Given the description of an element on the screen output the (x, y) to click on. 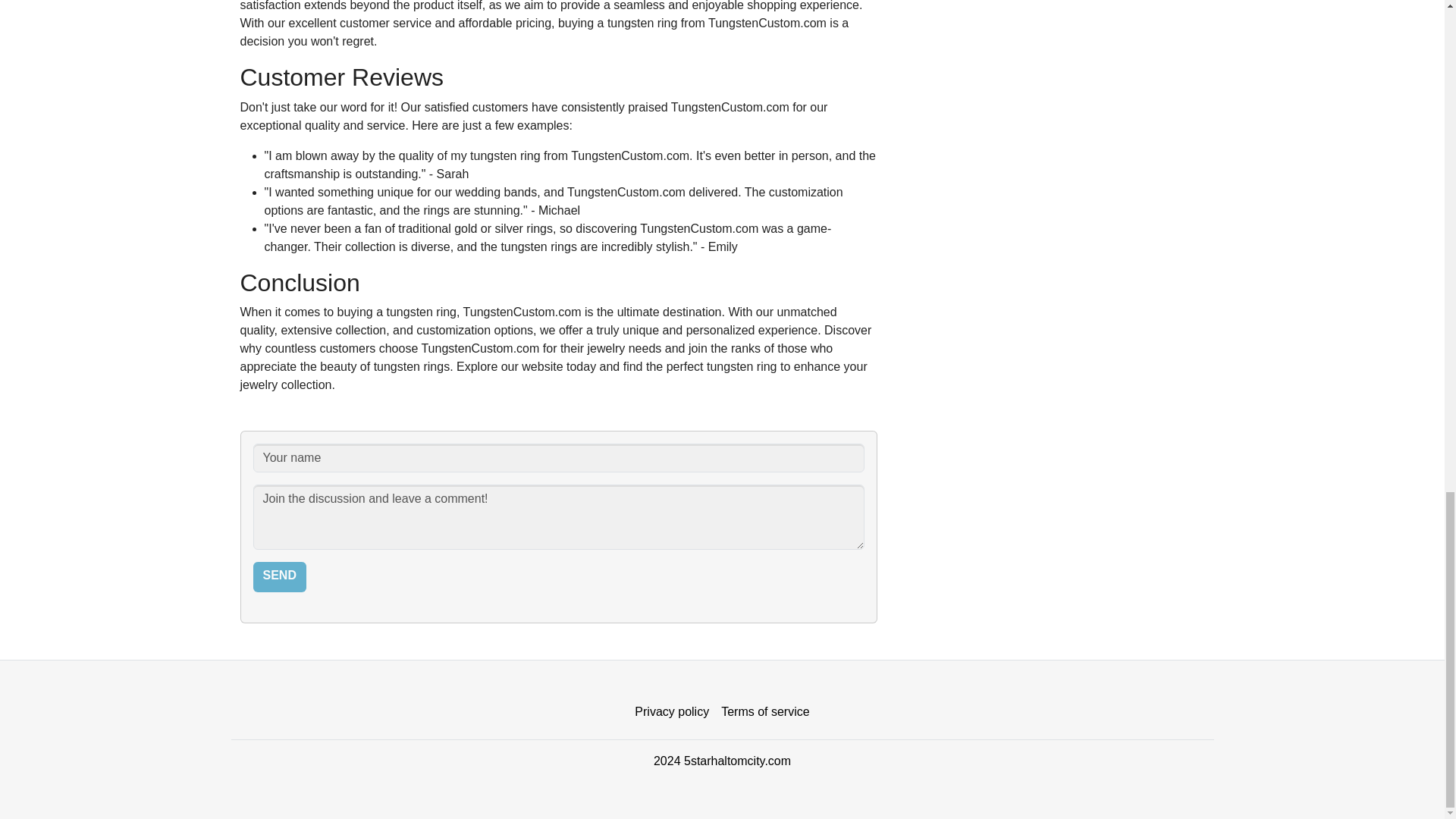
Privacy policy (671, 711)
Send (279, 576)
Terms of service (764, 711)
Send (279, 576)
